Given the description of an element on the screen output the (x, y) to click on. 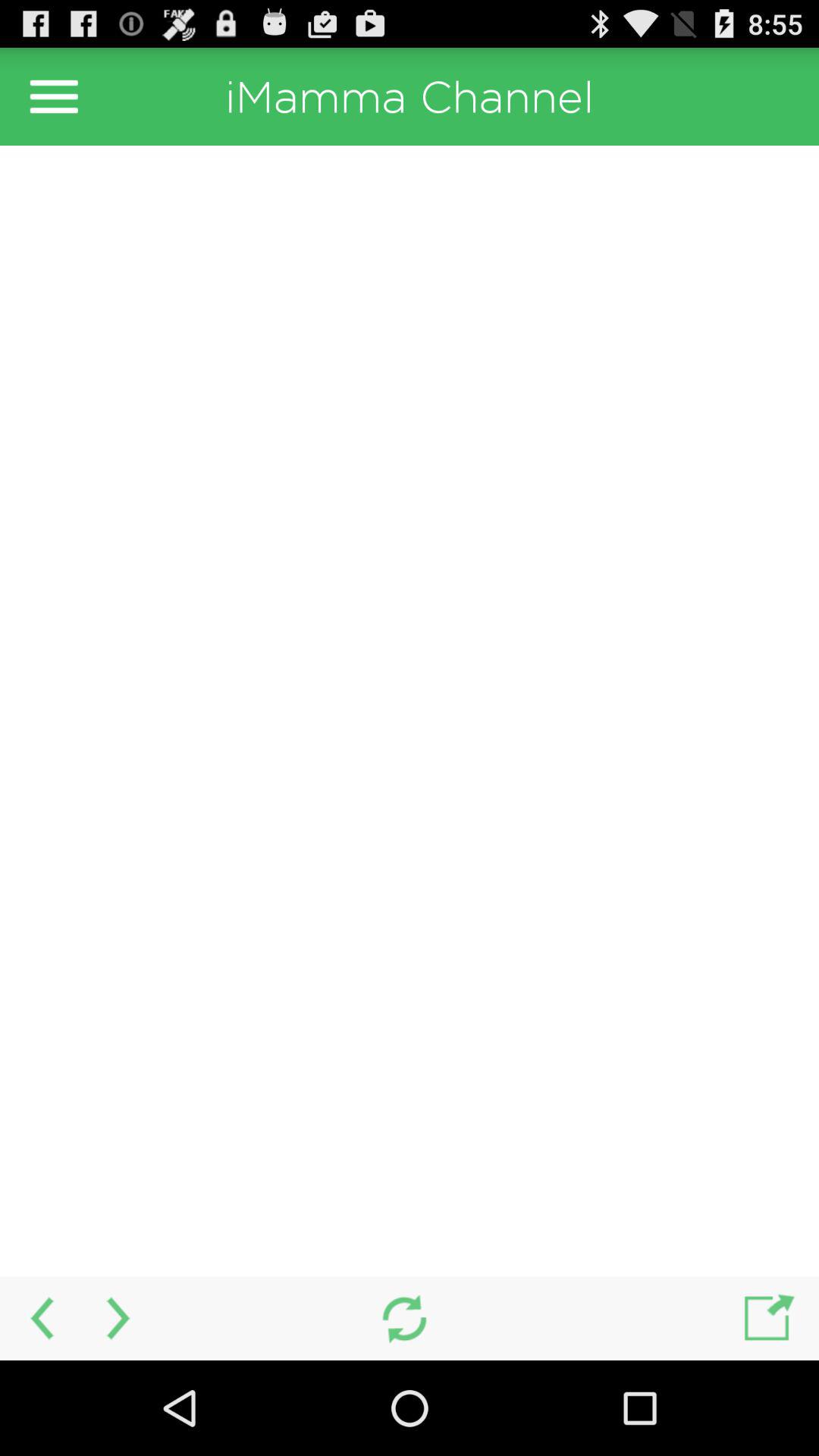
forward button or next (120, 1318)
